Given the description of an element on the screen output the (x, y) to click on. 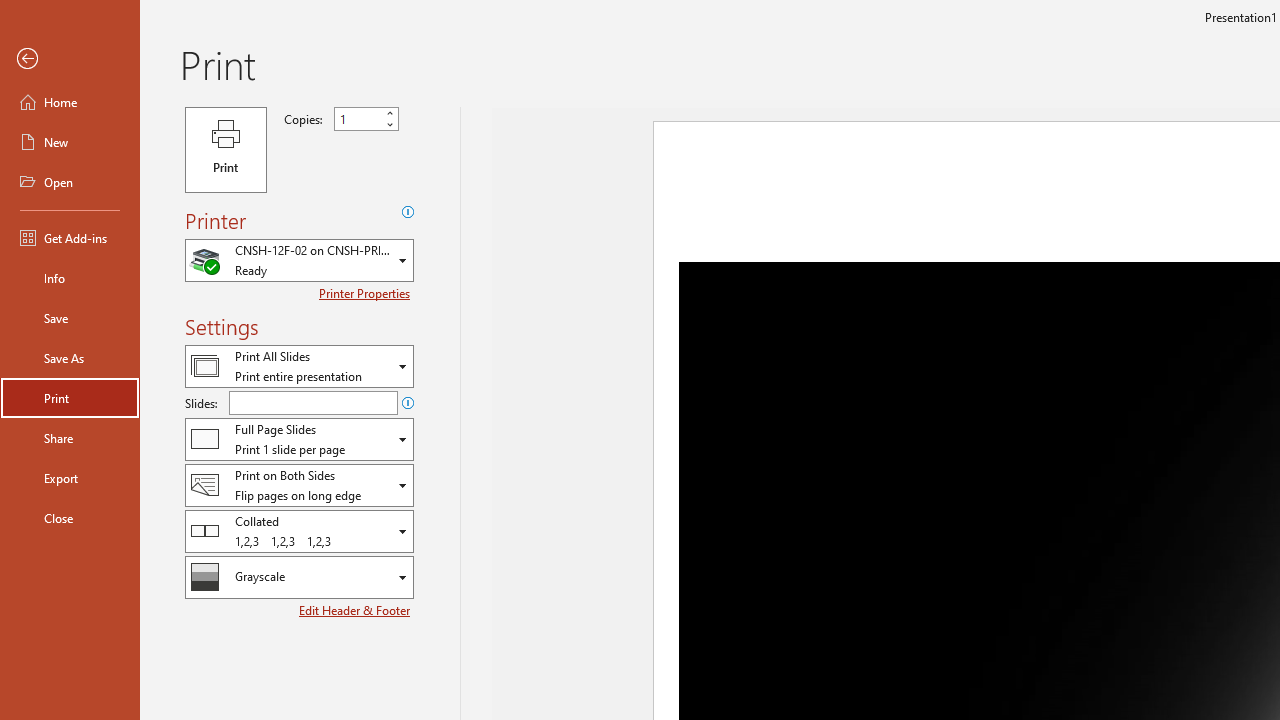
Print (69, 398)
System (10, 11)
Copies (358, 119)
Slides (313, 402)
Save (69, 317)
System (10, 11)
Printer Properties (365, 293)
Export (69, 477)
Collation (299, 530)
Save As (69, 357)
More (389, 113)
Open (69, 182)
Share (69, 437)
Color/Grayscale (299, 577)
